Given the description of an element on the screen output the (x, y) to click on. 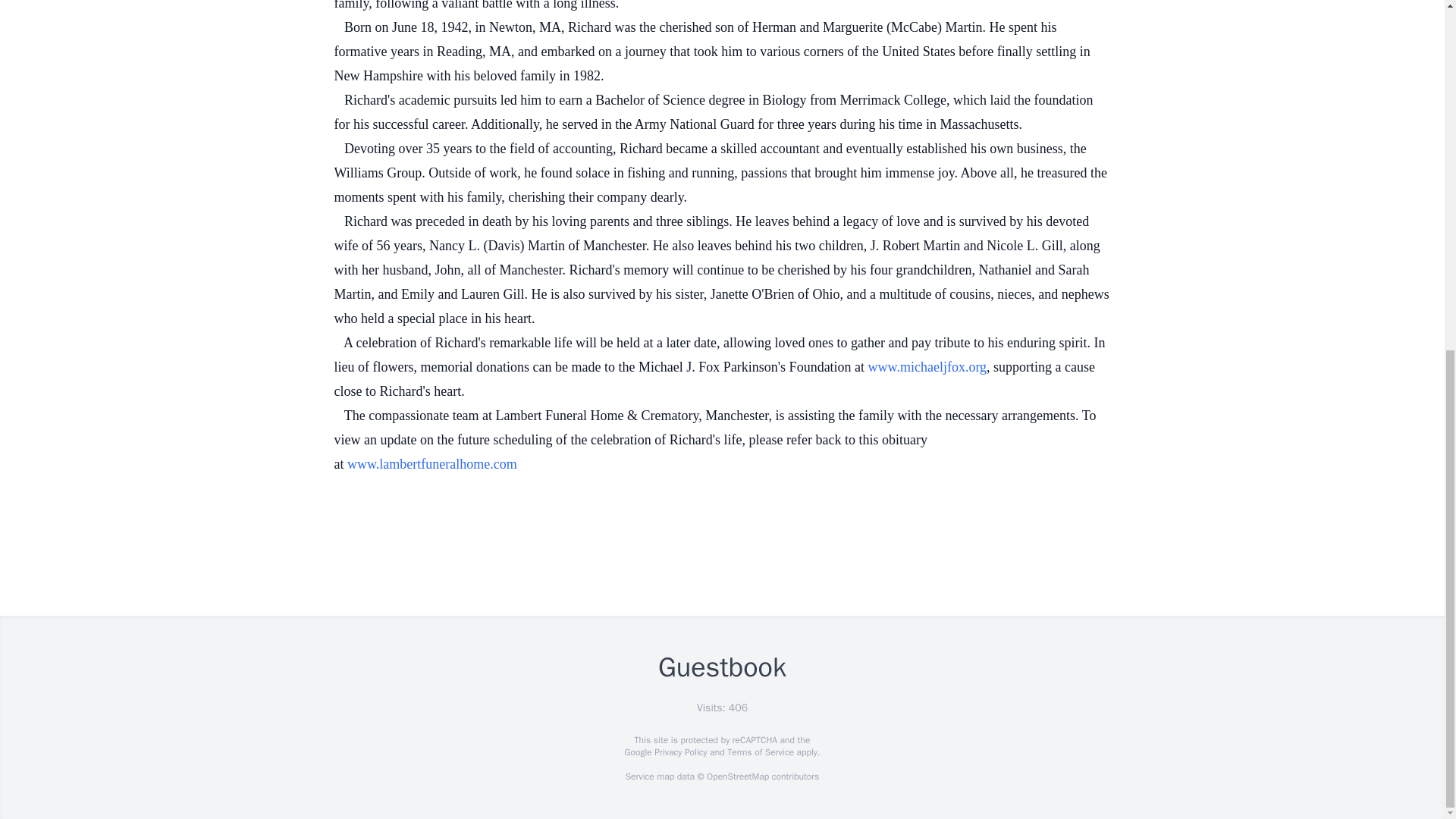
Terms of Service (759, 752)
Privacy Policy (679, 752)
www.michaeljfox.org (927, 366)
OpenStreetMap (737, 776)
www.lambertfuneralhome.com (431, 463)
